Given the description of an element on the screen output the (x, y) to click on. 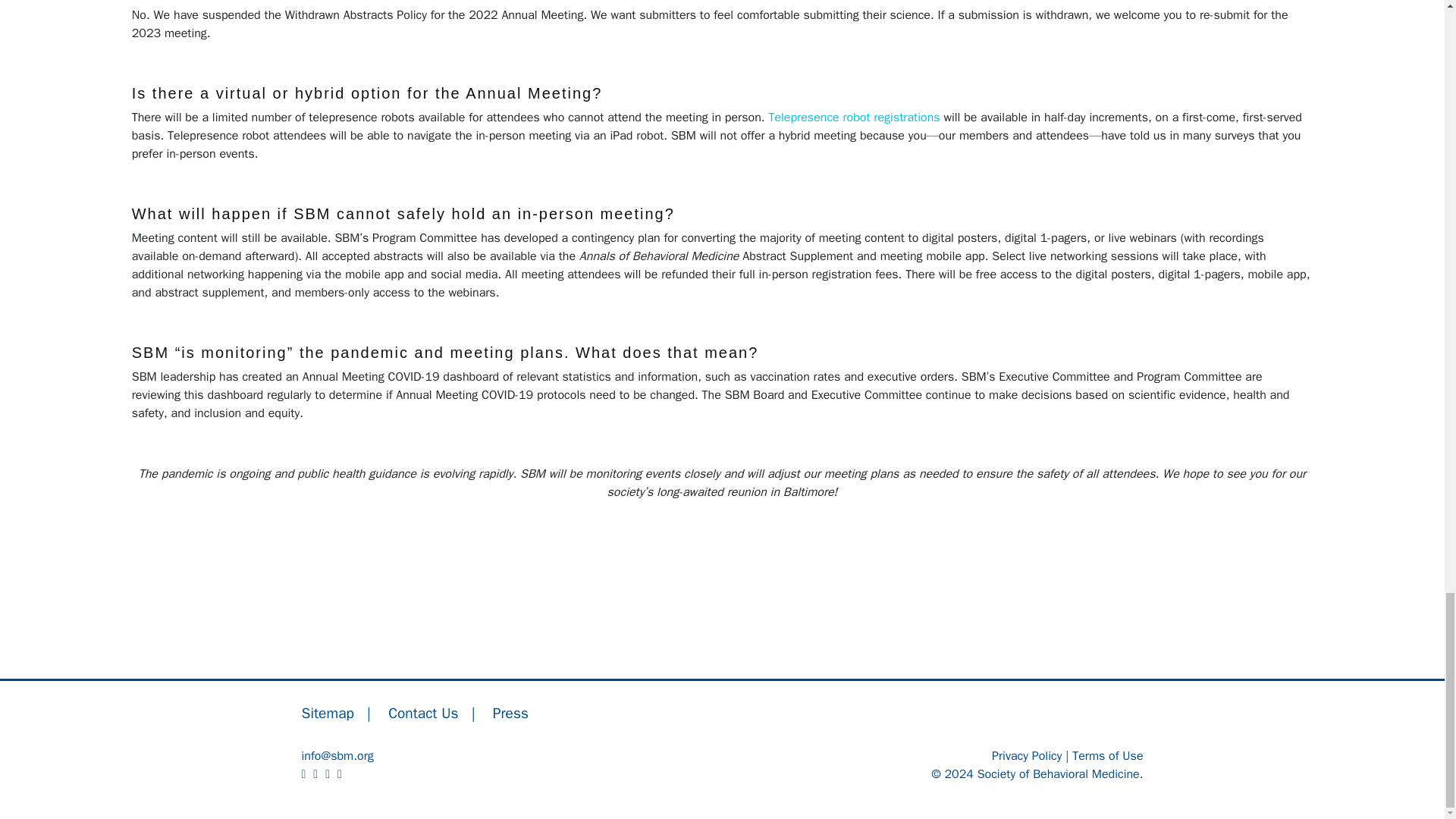
Follow us (307, 774)
Follow us (343, 774)
Follow us (330, 774)
Connect with us (318, 774)
